Given the description of an element on the screen output the (x, y) to click on. 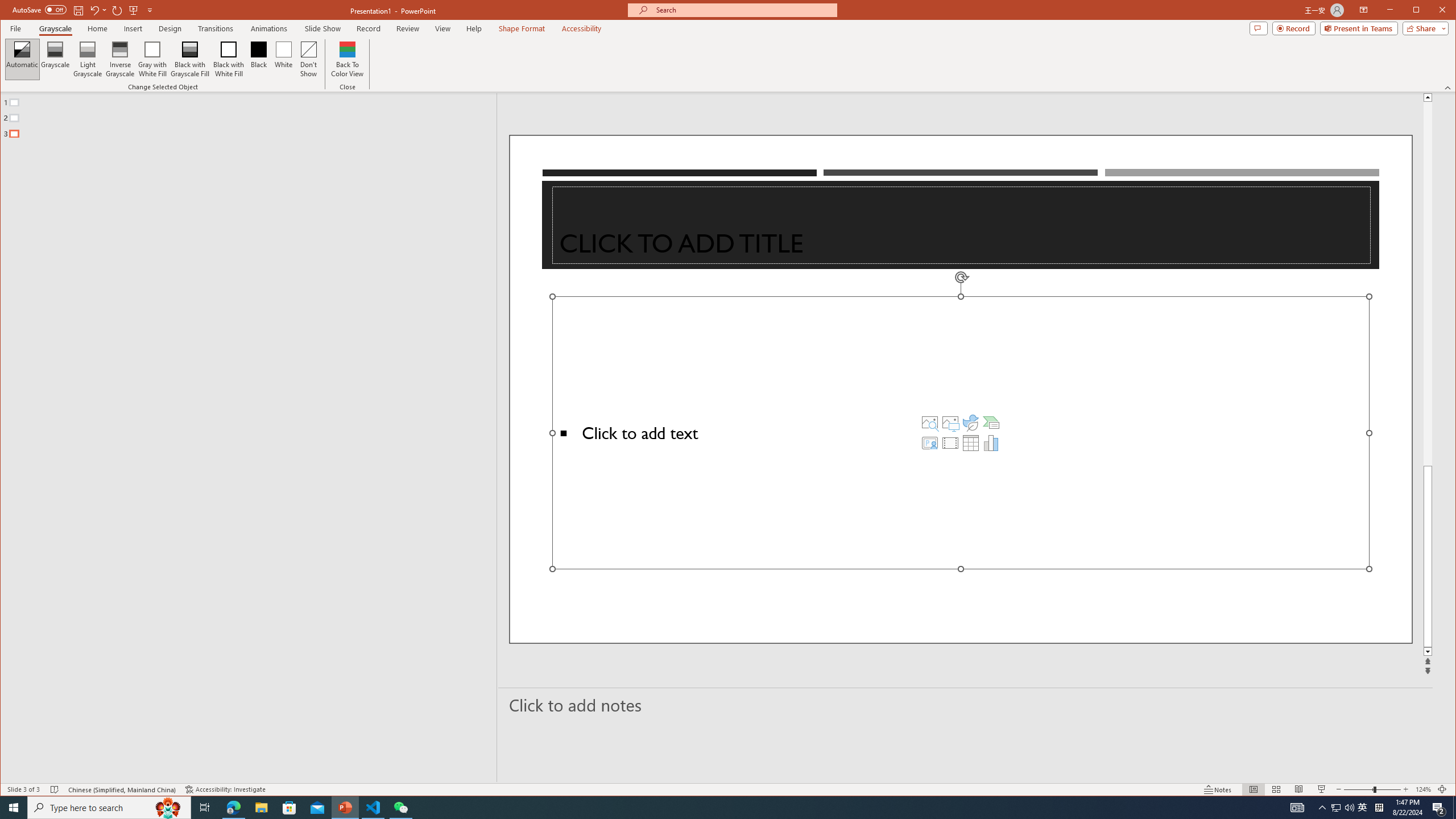
Insert Table (970, 443)
WeChat - 1 running window (400, 807)
Insert Chart (991, 443)
Grayscale (55, 28)
